Given the description of an element on the screen output the (x, y) to click on. 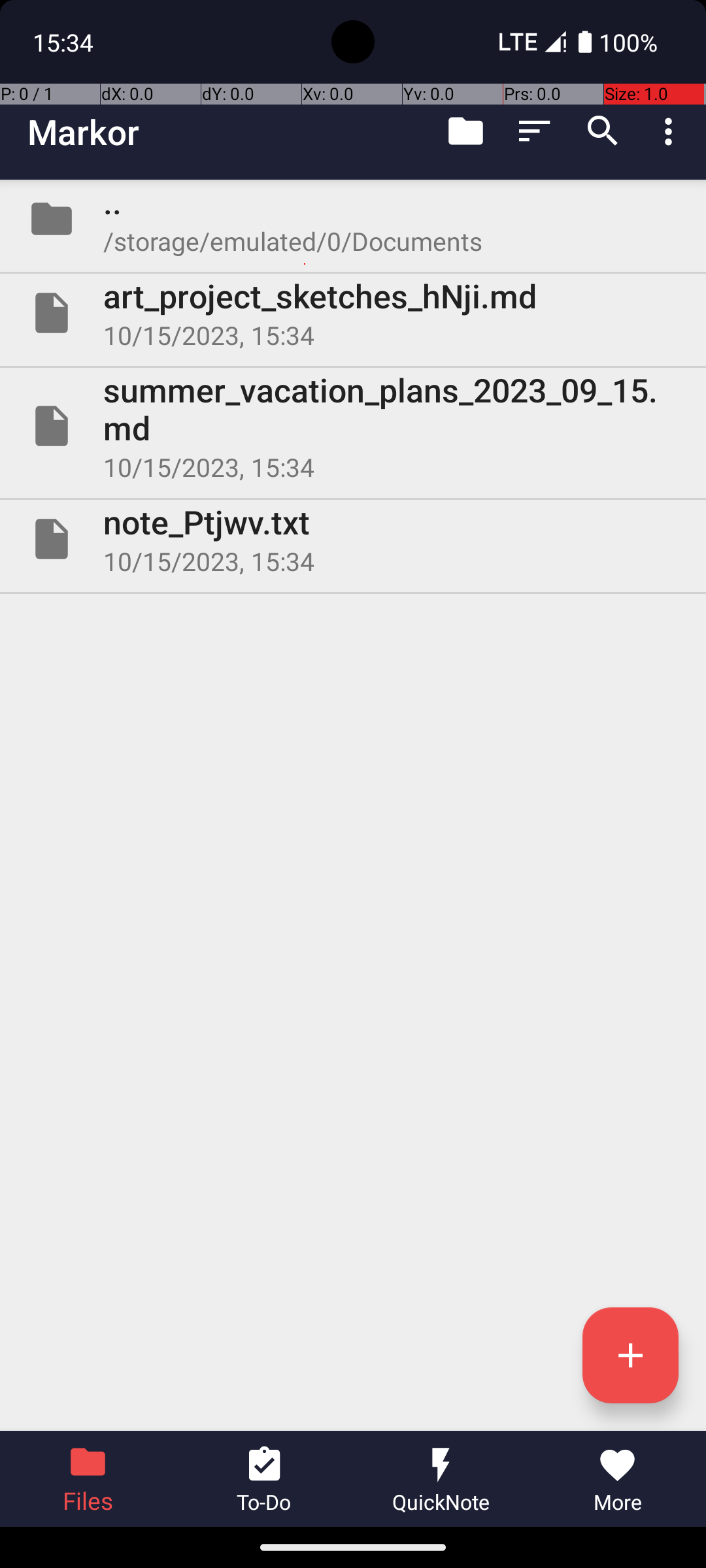
File art_project_sketches_hNji.md  Element type: android.widget.LinearLayout (353, 312)
File summer_vacation_plans_2023_09_15.md  Element type: android.widget.LinearLayout (353, 425)
File note_Ptjwv.txt  Element type: android.widget.LinearLayout (353, 538)
